Given the description of an element on the screen output the (x, y) to click on. 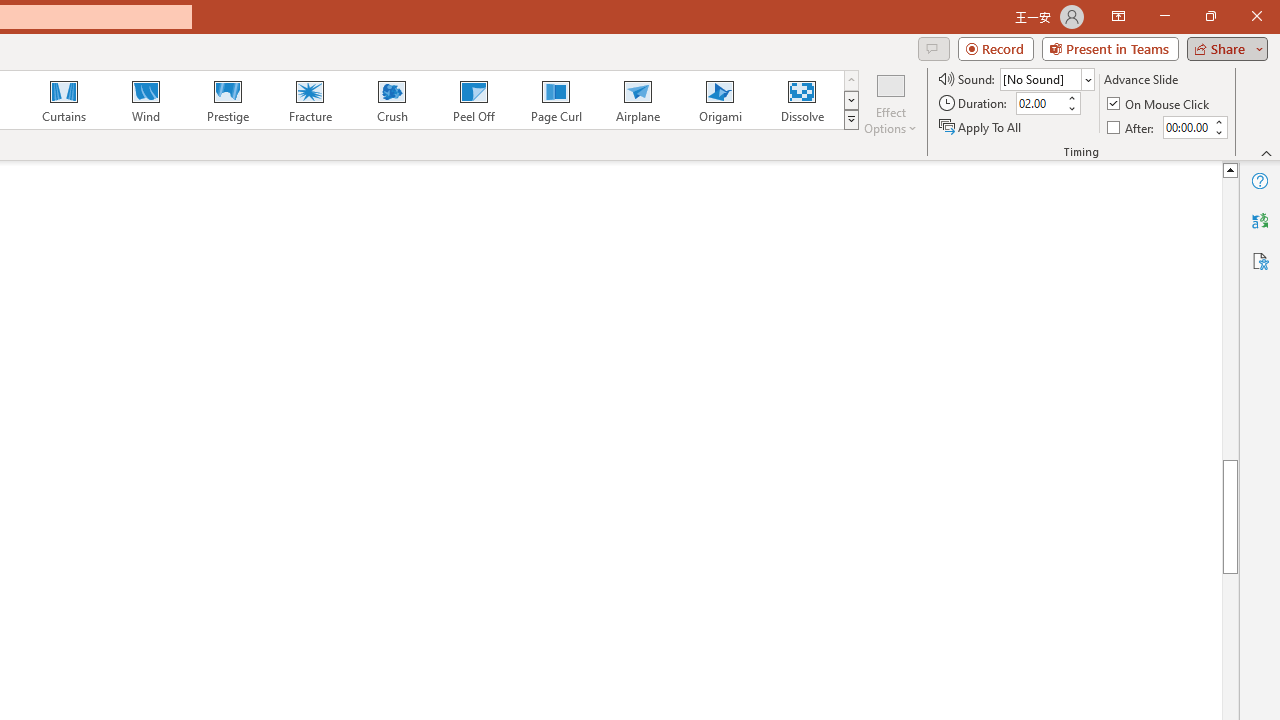
Apply To All (981, 126)
Peel Off (473, 100)
Airplane (637, 100)
Prestige (227, 100)
Dissolve (802, 100)
Crush (391, 100)
